Given the description of an element on the screen output the (x, y) to click on. 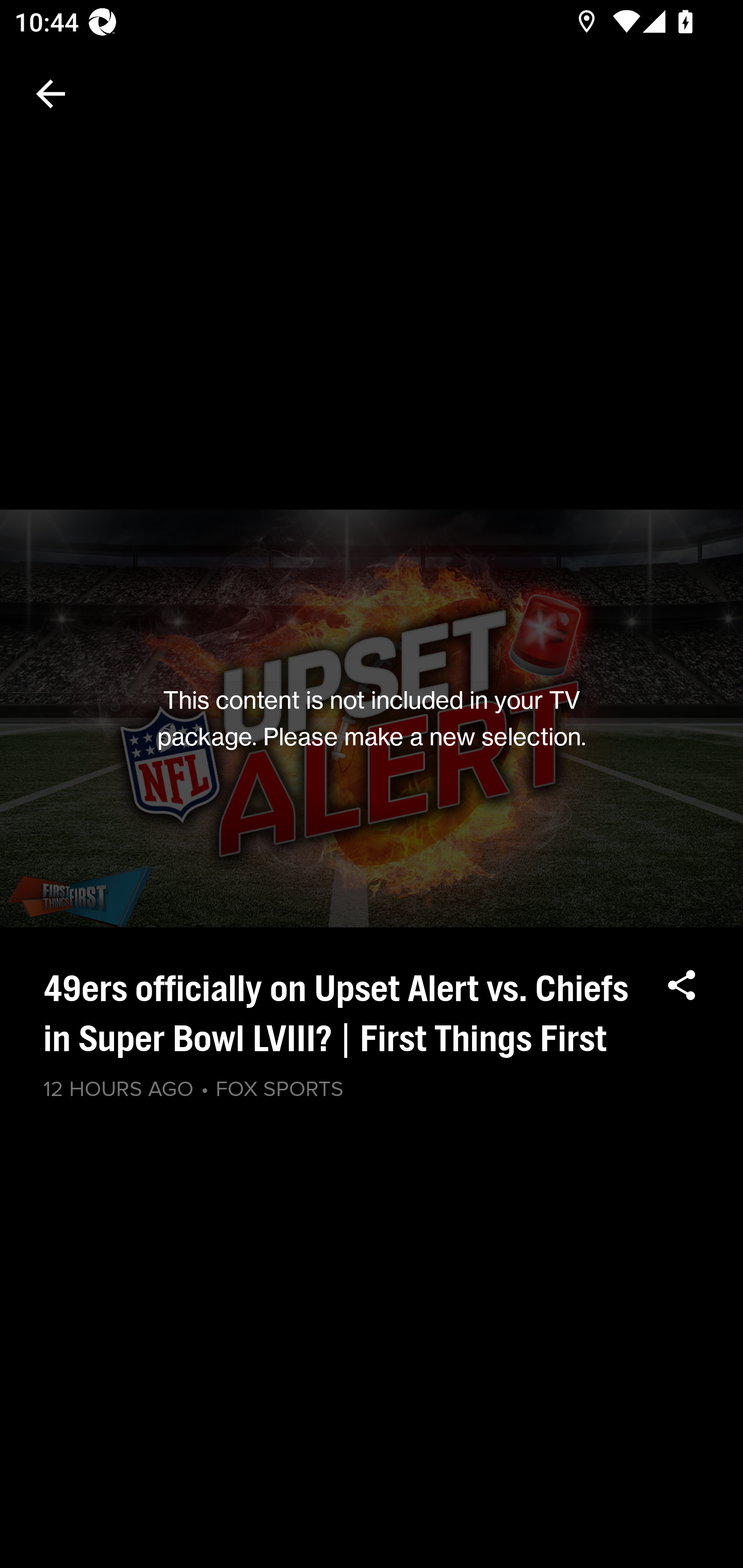
Navigate up (50, 93)
